Given the description of an element on the screen output the (x, y) to click on. 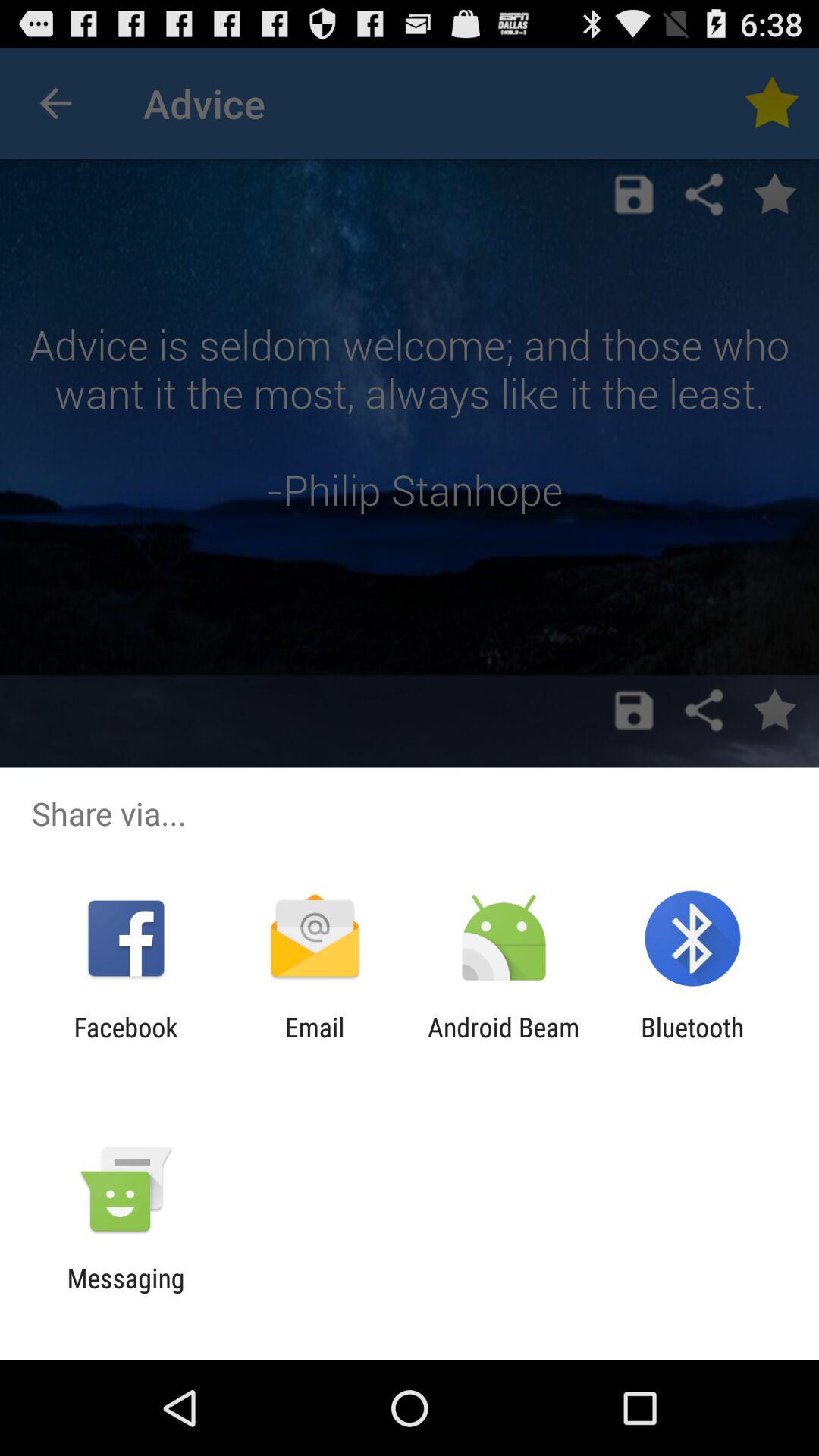
tap item at the bottom right corner (691, 1042)
